Given the description of an element on the screen output the (x, y) to click on. 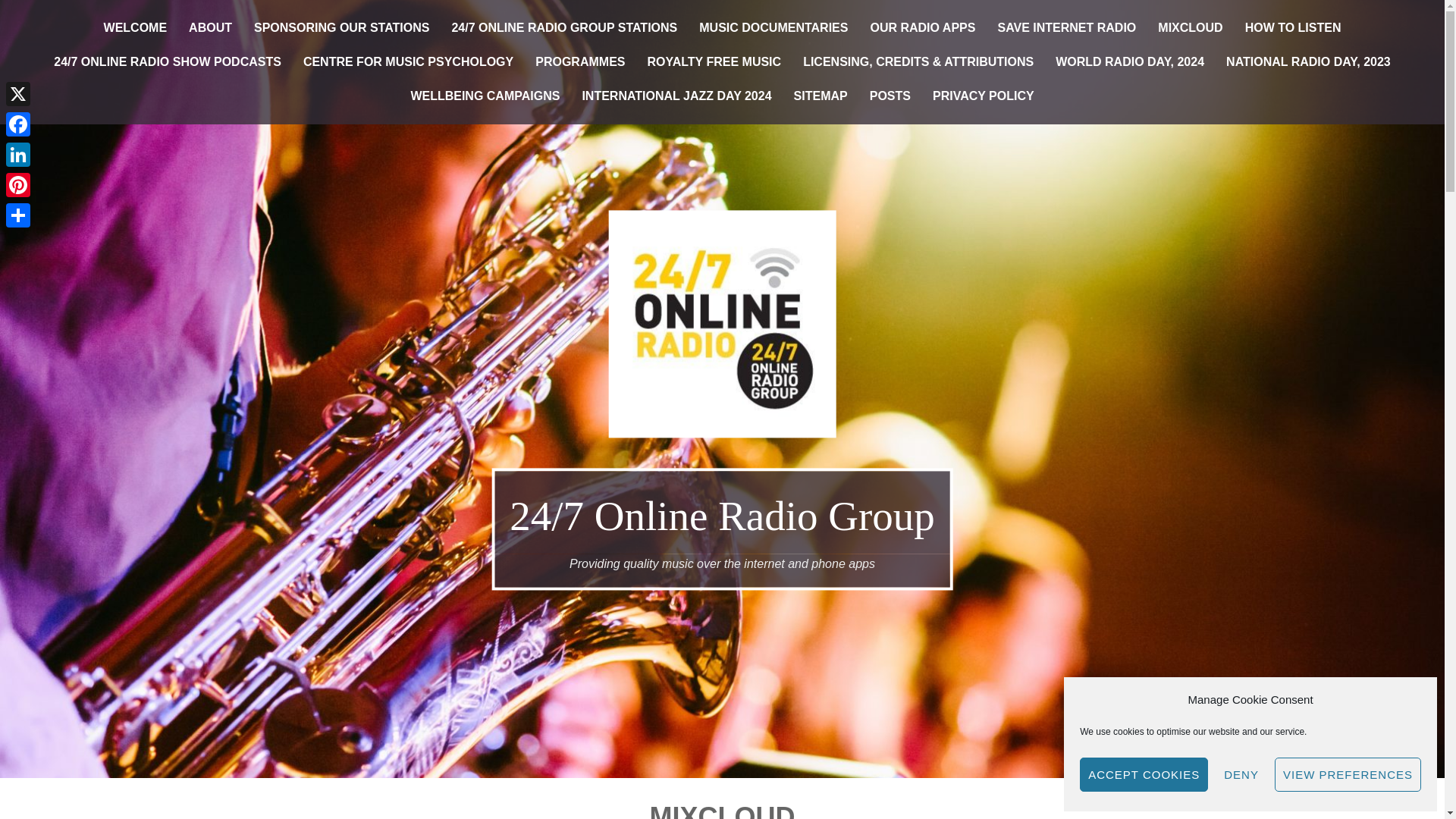
WELCOME (135, 28)
DENY (1240, 774)
ABOUT (210, 28)
VIEW PREFERENCES (1348, 774)
SPONSORING OUR STATIONS (341, 28)
X (17, 93)
LinkedIn (17, 154)
Facebook (17, 123)
ACCEPT COOKIES (1144, 774)
Pinterest (17, 184)
